Given the description of an element on the screen output the (x, y) to click on. 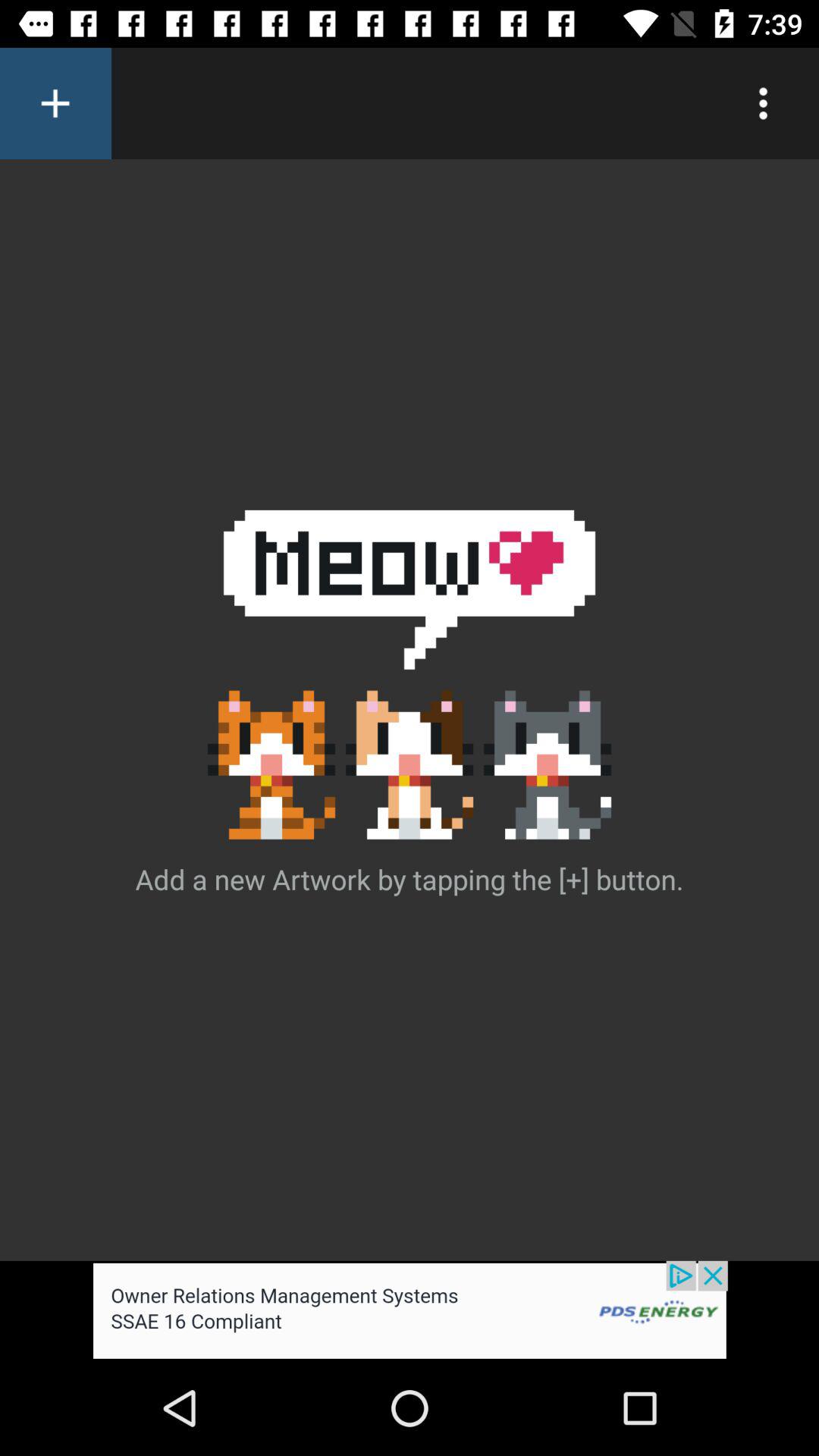
add new artwork (55, 103)
